Given the description of an element on the screen output the (x, y) to click on. 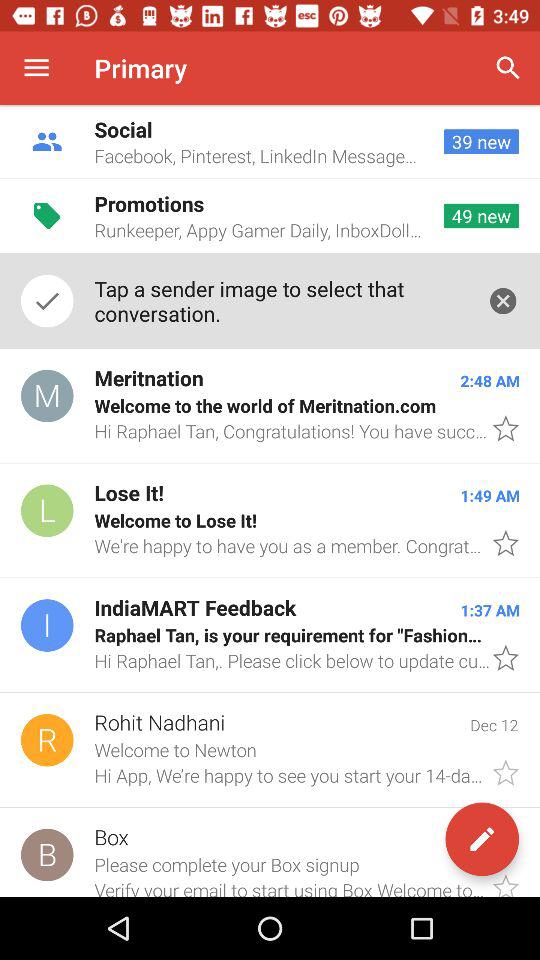
choose icon to the right of primary (508, 67)
